Given the description of an element on the screen output the (x, y) to click on. 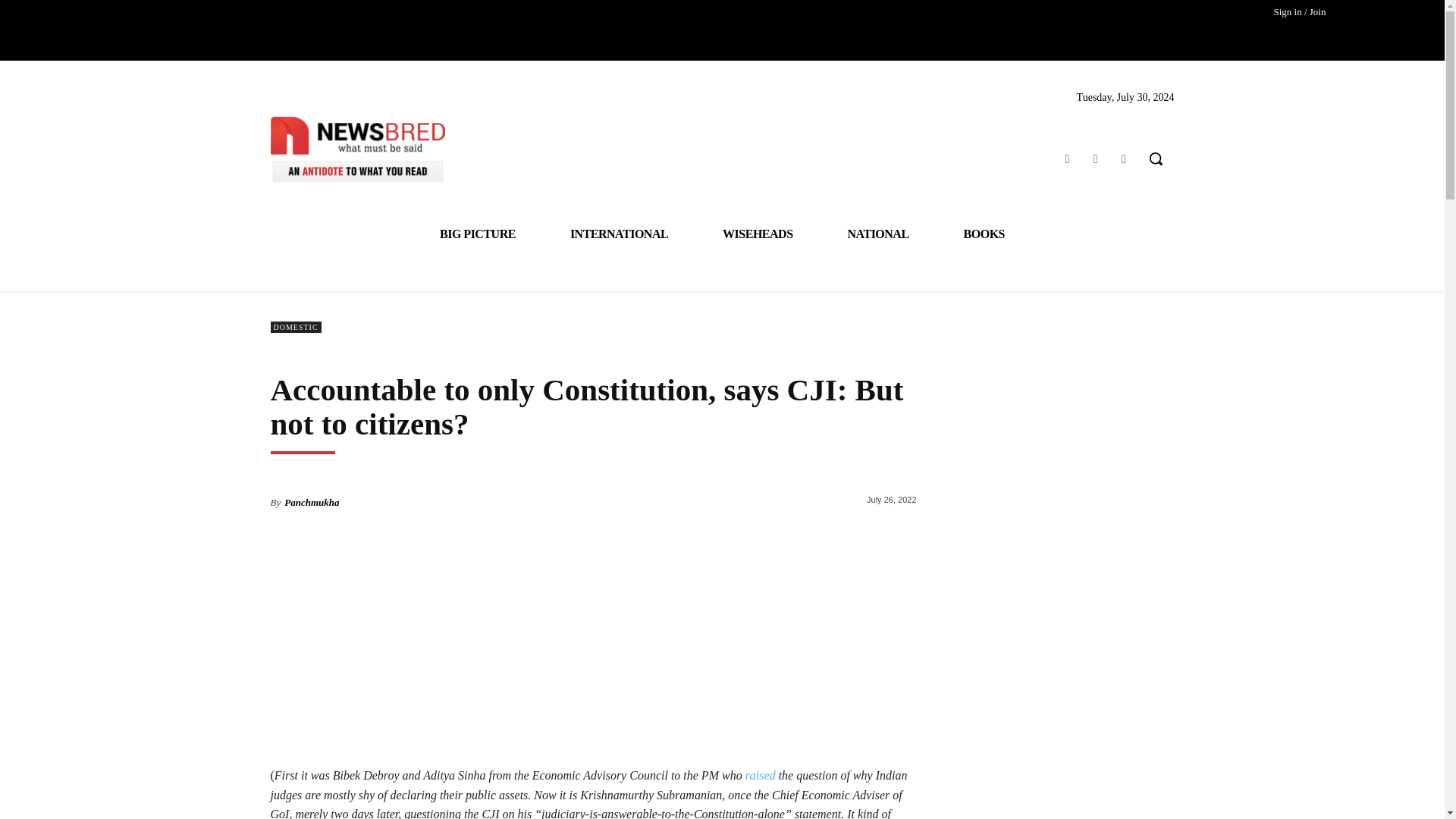
BIG PICTURE (477, 233)
DOMESTIC (294, 326)
NATIONAL (878, 233)
INTERNATIONAL (619, 233)
Facebook (1067, 158)
Panchmukha (311, 502)
WISEHEADS (757, 233)
Twitter (1094, 158)
BOOKS (984, 233)
Youtube (1123, 158)
raised (760, 775)
